Given the description of an element on the screen output the (x, y) to click on. 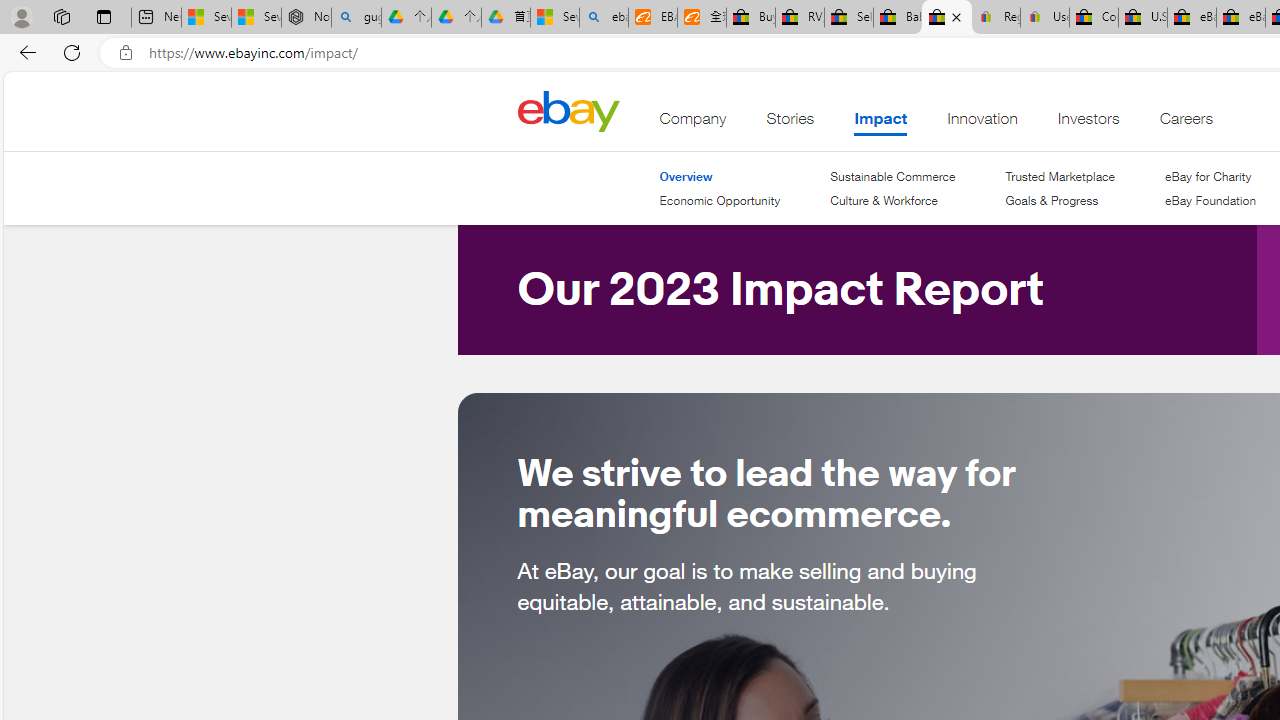
Stories (790, 123)
User Privacy Notice | eBay (1044, 17)
eBay Impact - eBay Inc. (946, 17)
Trusted Marketplace (1059, 176)
Careers (1185, 123)
eBay Foundation (1209, 200)
U.S. State Privacy Disclosures - eBay Inc. (1142, 17)
Company (693, 123)
eBay for Charity (1209, 176)
eBay Inc. Reports Third Quarter 2023 Results (1240, 17)
